Given the description of an element on the screen output the (x, y) to click on. 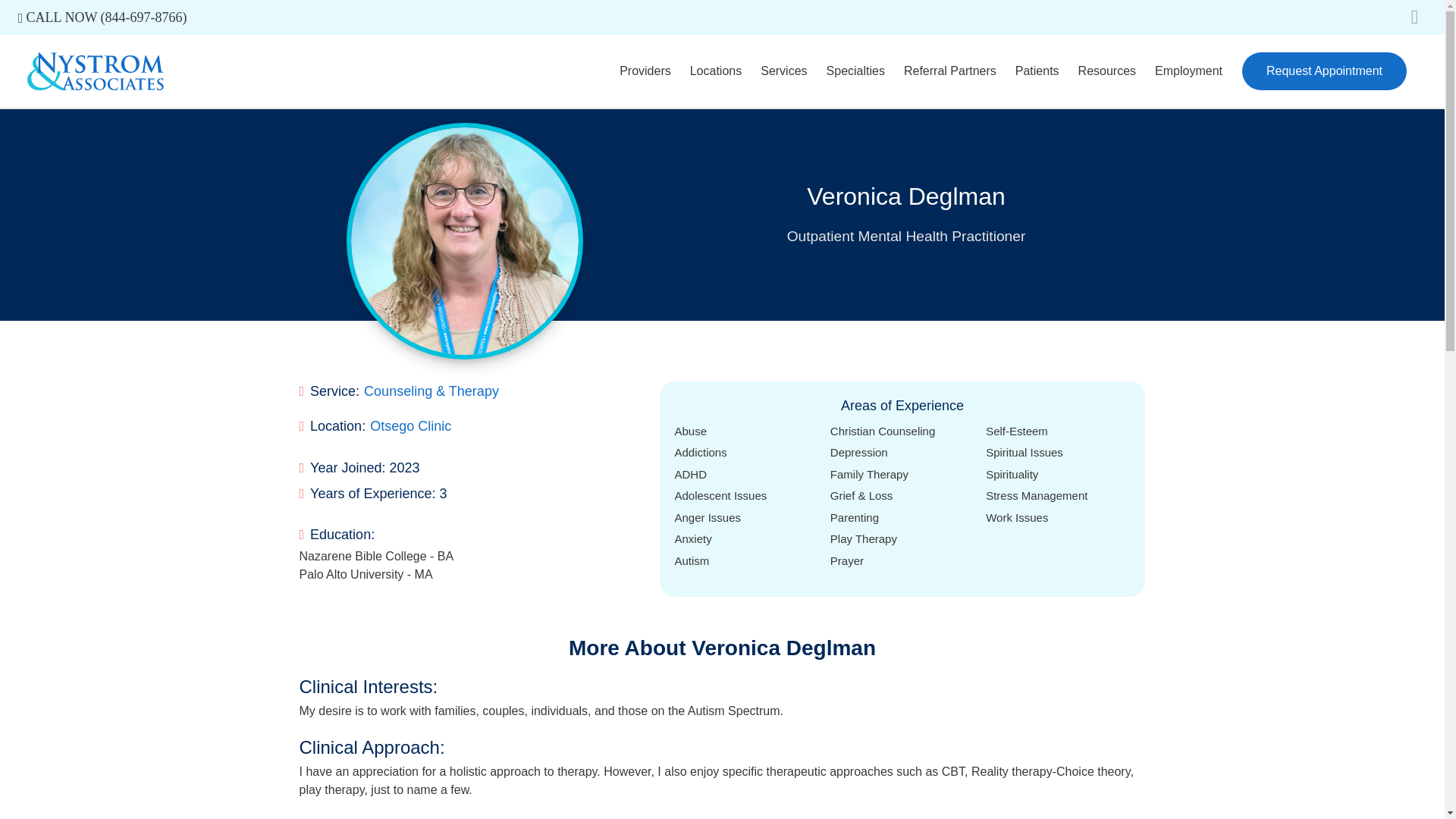
Specialties (854, 70)
Patients (1037, 70)
Locations (716, 70)
Providers (644, 70)
Referral Partners (950, 70)
Services (783, 70)
